Given the description of an element on the screen output the (x, y) to click on. 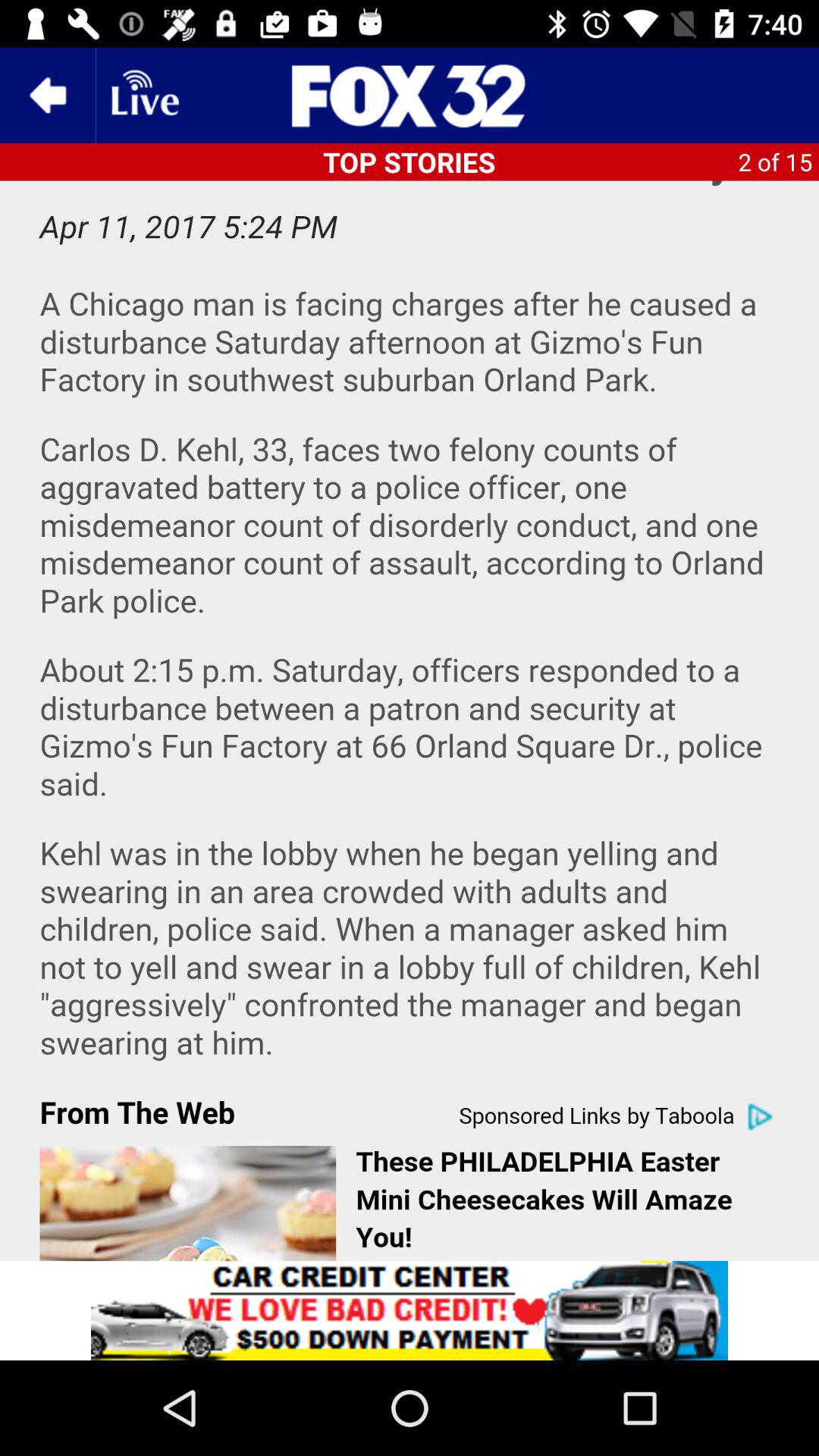
advertisement page (409, 720)
